Given the description of an element on the screen output the (x, y) to click on. 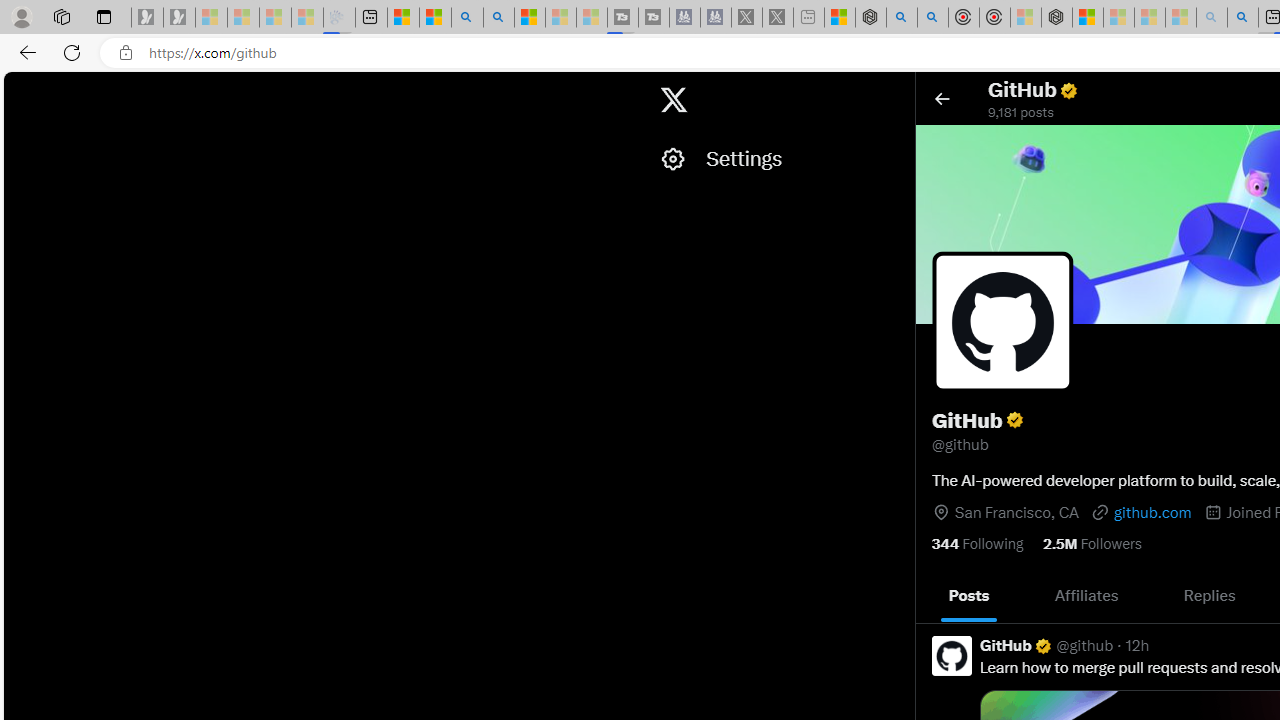
Settings (777, 159)
Affiliates (1086, 595)
Streaming Coverage | T3 - Sleeping (622, 17)
Newsletter Sign Up - Sleeping (178, 17)
12 hours ago (1137, 645)
Posts (969, 595)
Previous (938, 596)
amazon - Search - Sleeping (1211, 17)
Verified account (1042, 645)
poe ++ standard - Search (932, 17)
